Given the description of an element on the screen output the (x, y) to click on. 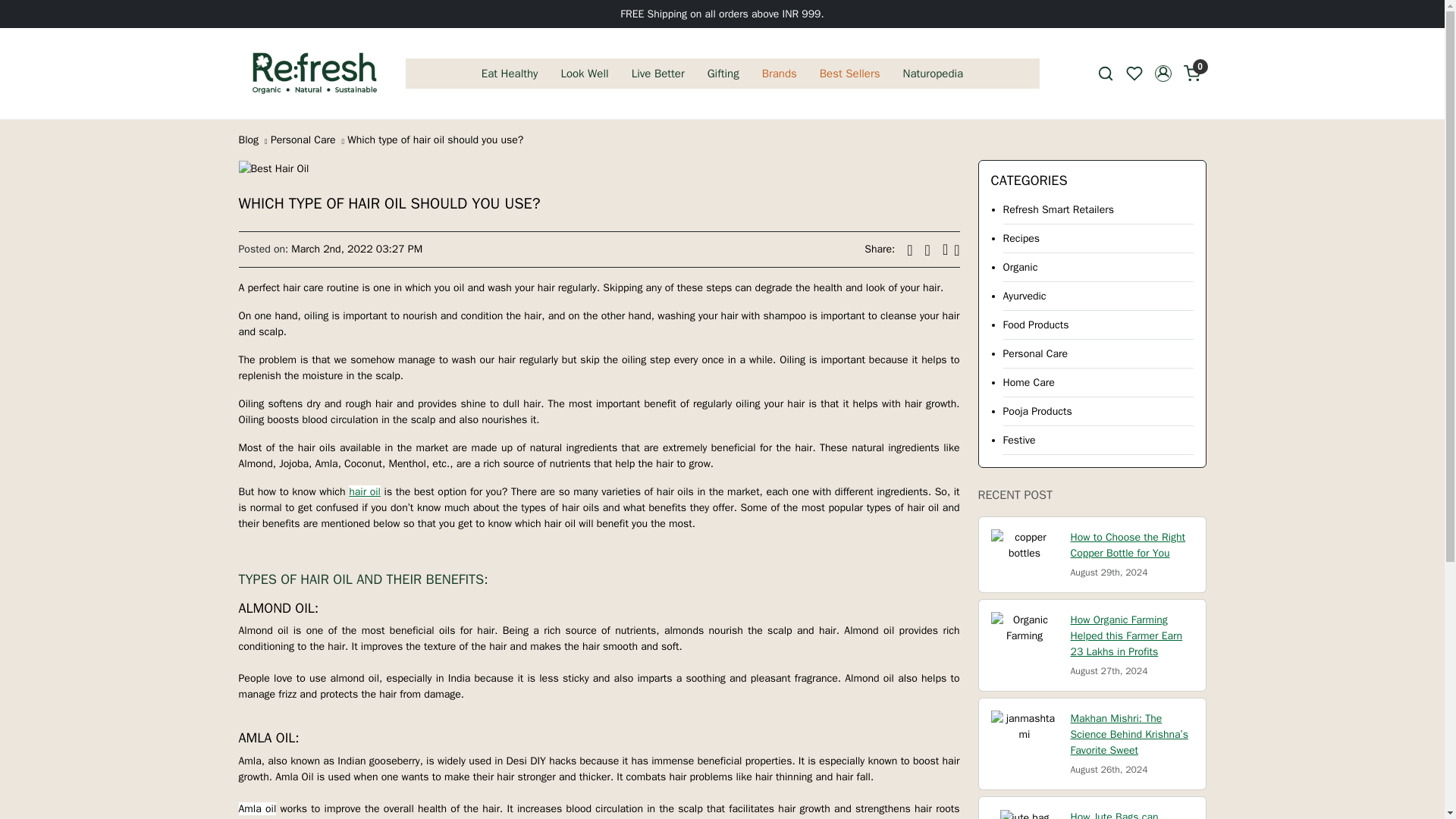
Look Well (584, 73)
Home (314, 73)
Eat Healthy (510, 73)
Shopping Bag (1190, 73)
